Given the description of an element on the screen output the (x, y) to click on. 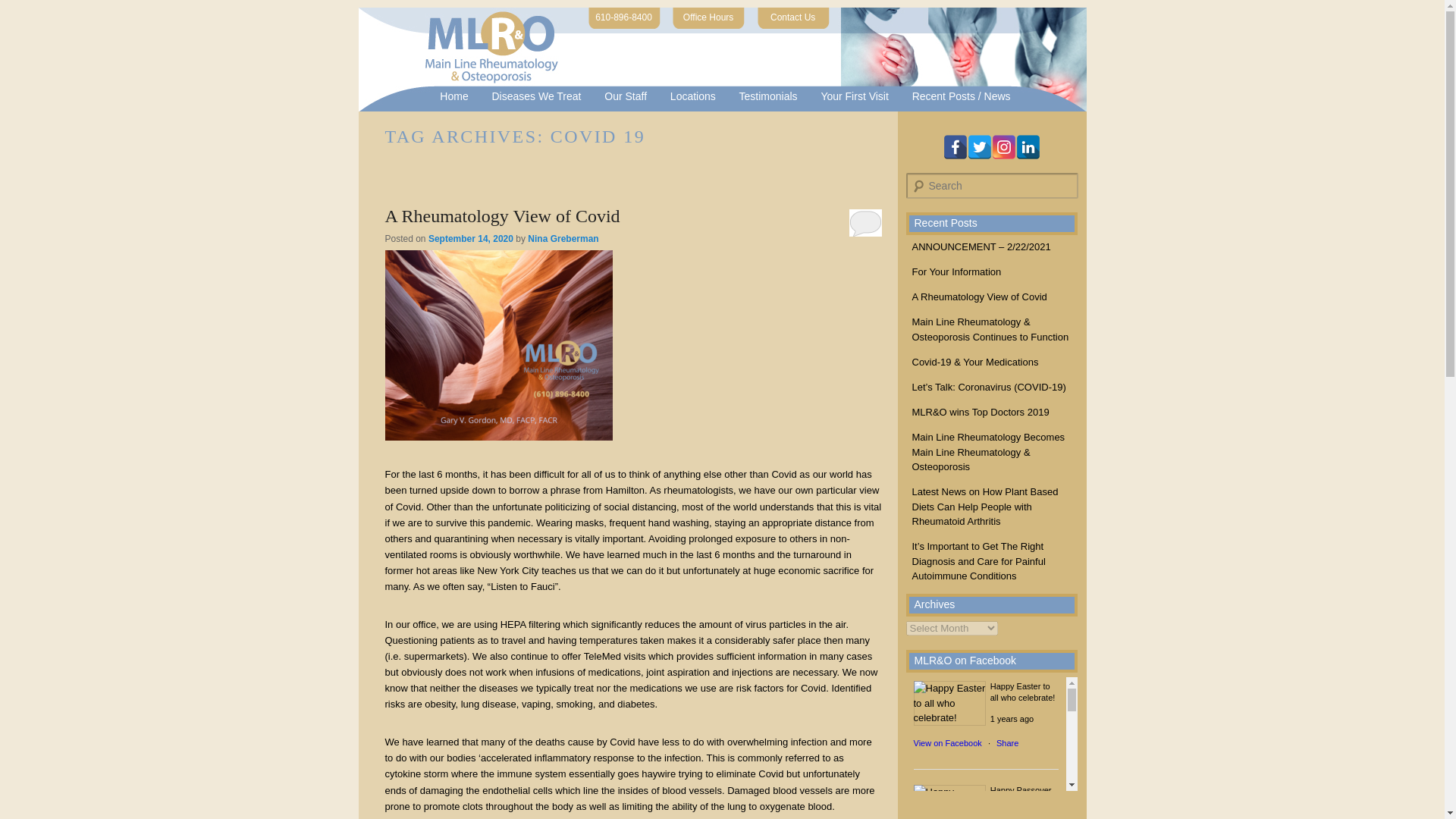
Diseases We Treat (536, 96)
Locations (692, 96)
Permalink to A Rheumatology View of Covid (502, 216)
Twitter (979, 146)
Testimonials (767, 96)
Contact Us (797, 17)
Share (1006, 742)
Skip to secondary content (486, 96)
View on Facebook (946, 742)
Search (21, 11)
Nina Greberman (562, 238)
Your First Visit (854, 96)
LinkedIn (1028, 146)
View all posts by Nina Greberman (562, 238)
A Rheumatology View of Covid (502, 216)
